Given the description of an element on the screen output the (x, y) to click on. 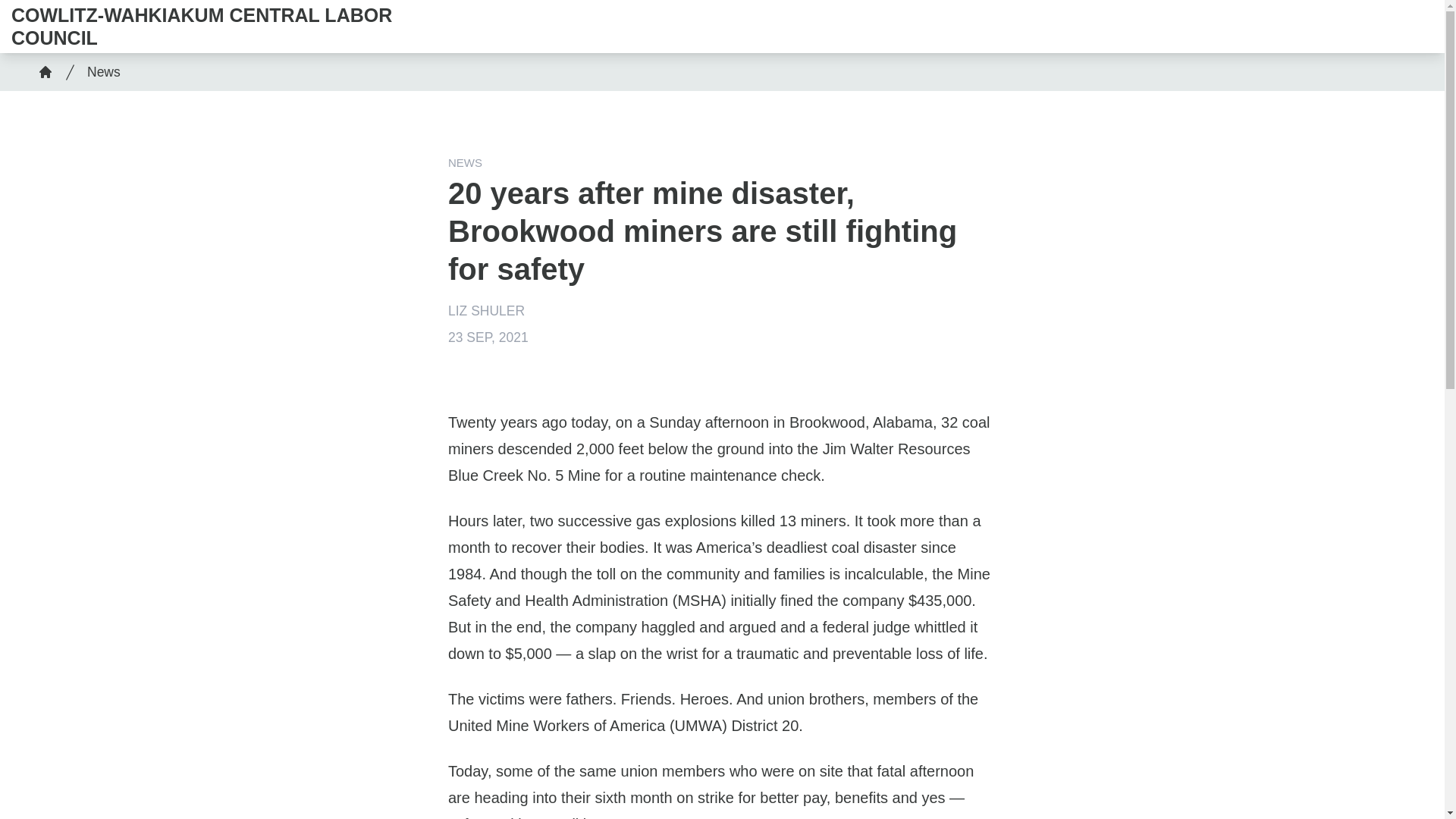
NEWS (464, 162)
Home (44, 71)
Thursday, September 23, 2021 - 15:37 (488, 337)
News (100, 71)
COWLITZ-WAHKIAKUM CENTRAL LABOR COUNCIL (206, 26)
